Given the description of an element on the screen output the (x, y) to click on. 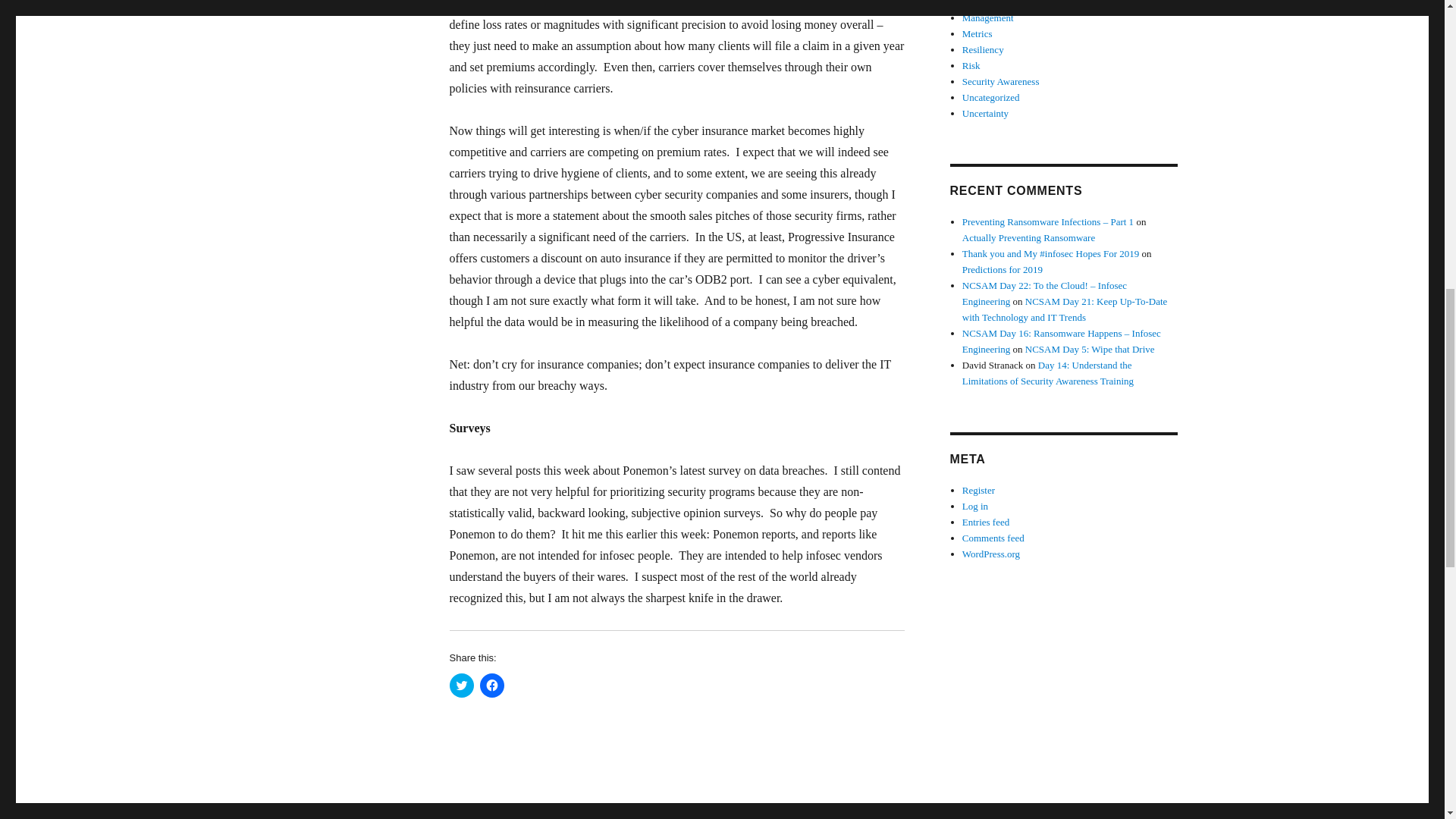
Click to share on Facebook (491, 685)
Metrics (977, 33)
Management (987, 17)
Uncertainty (985, 112)
Predictions for 2019 (1002, 269)
Risk (970, 65)
Malware (979, 3)
Actually Preventing Ransomware (1028, 237)
Security Awareness (1000, 81)
Uncategorized (991, 97)
Click to share on Twitter (460, 685)
Resiliency (983, 49)
